Given the description of an element on the screen output the (x, y) to click on. 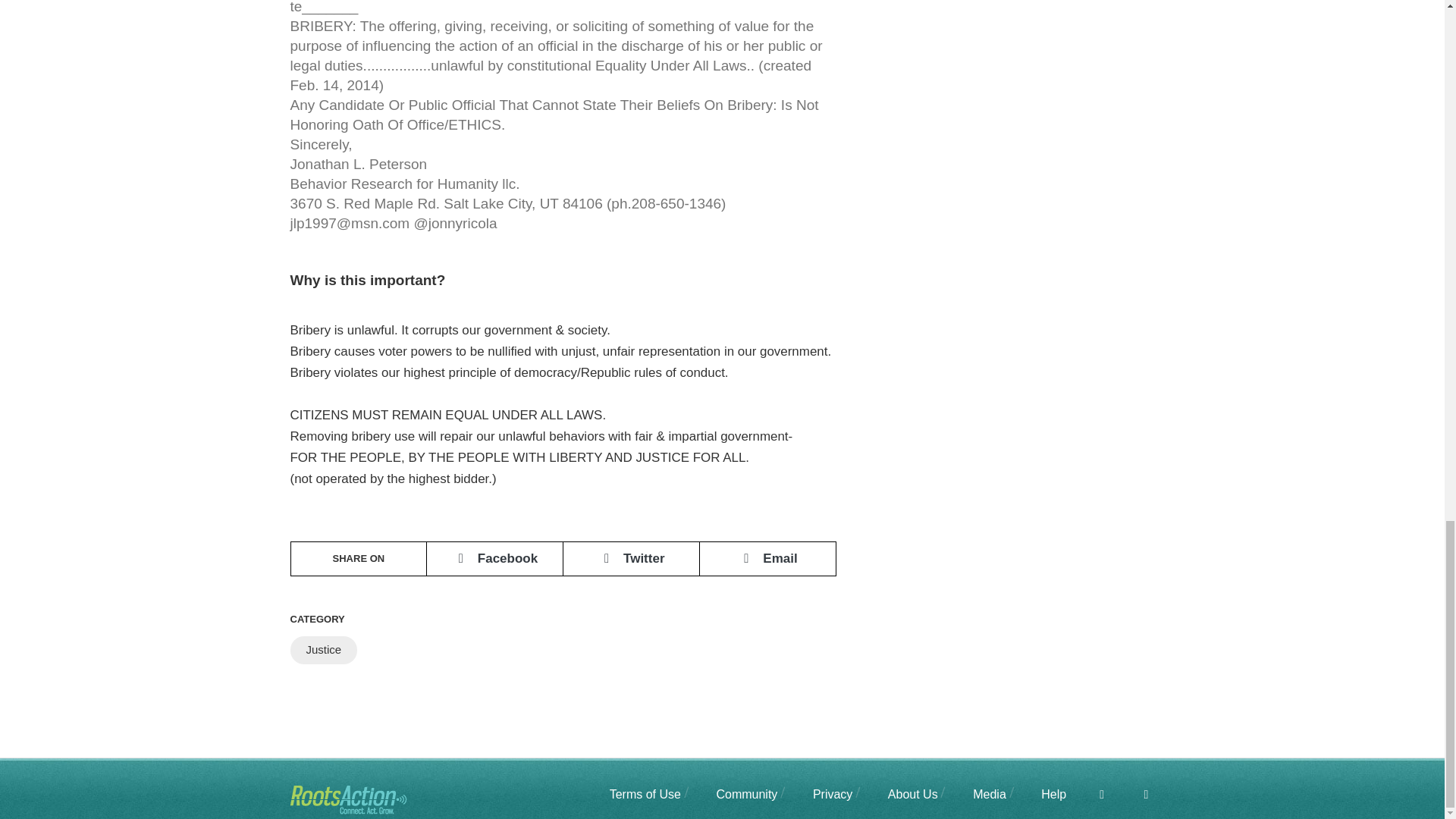
Justice (322, 650)
About Us (900, 794)
Share on Twitter (631, 558)
Email (766, 558)
Community (734, 794)
Facebook (1088, 794)
Share on Facebook (494, 558)
Share via Email (766, 558)
Twitter (631, 558)
Media (977, 794)
